Given the description of an element on the screen output the (x, y) to click on. 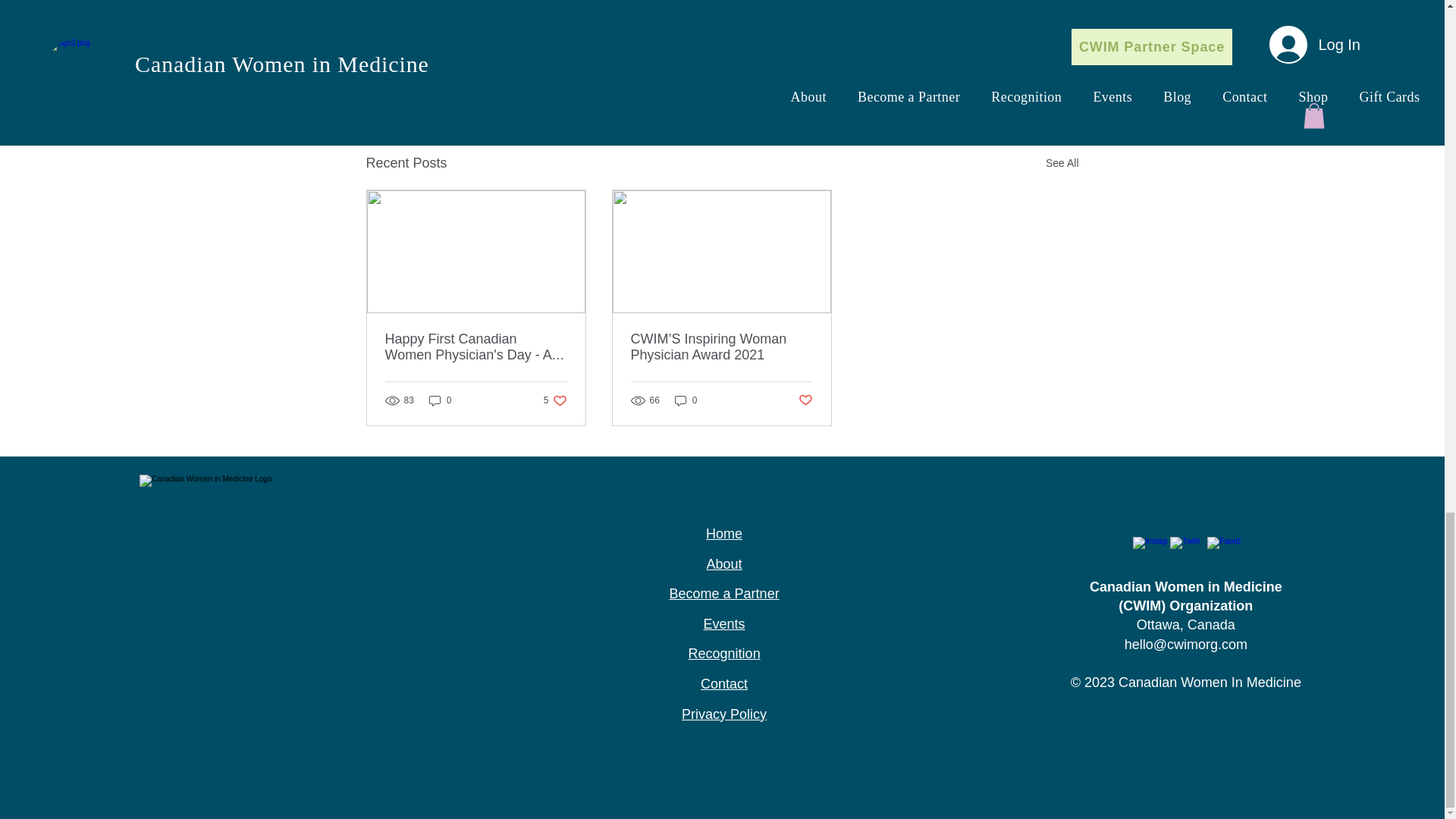
Post not marked as liked (995, 80)
0 (555, 400)
0 (440, 400)
Events (685, 400)
Post not marked as liked (944, 34)
See All (804, 400)
News (1061, 163)
Home (989, 34)
